Given the description of an element on the screen output the (x, y) to click on. 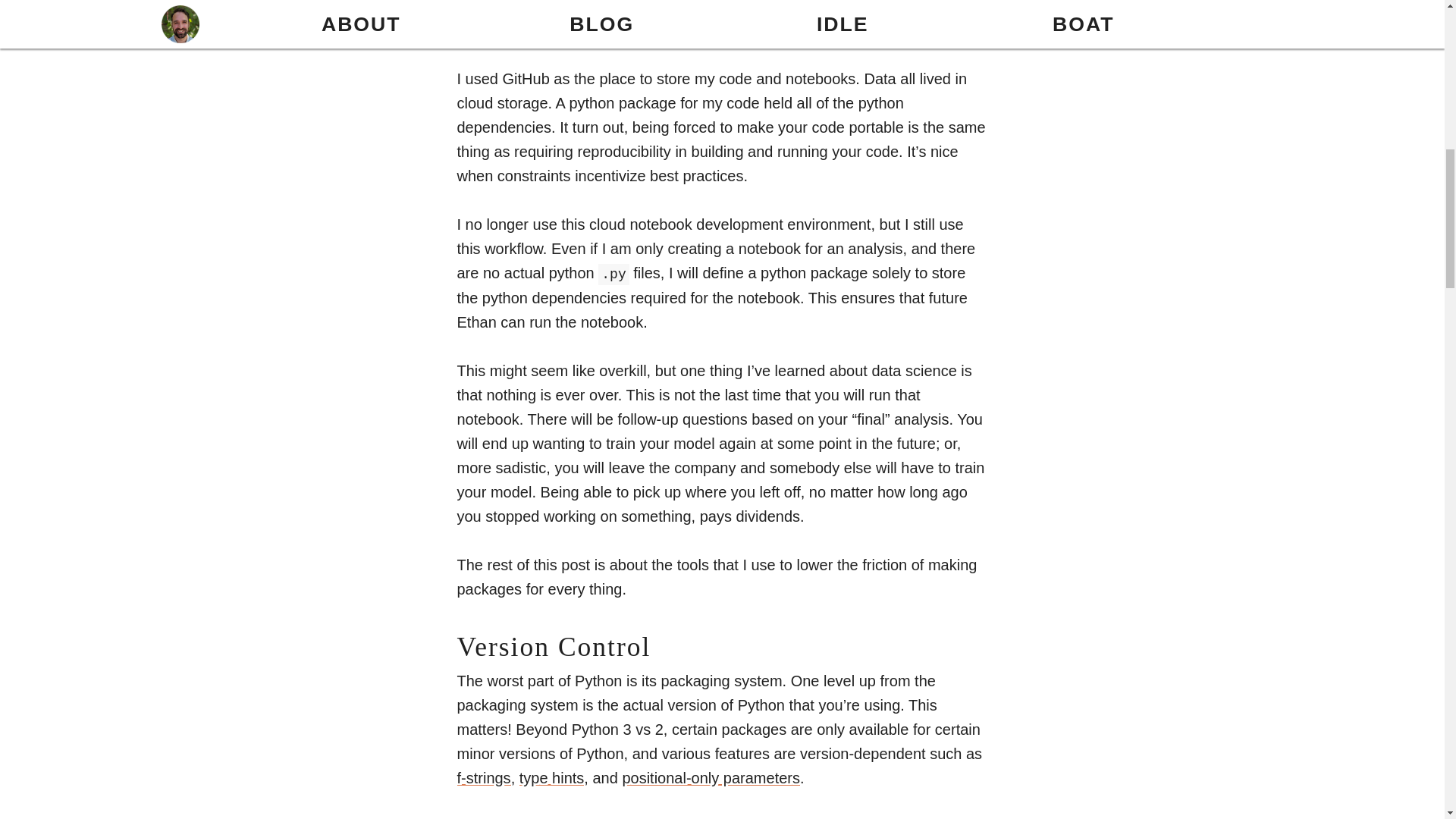
type hints (552, 777)
pyenv (513, 818)
positional-only parameters (710, 777)
f-strings (484, 777)
